Given the description of an element on the screen output the (x, y) to click on. 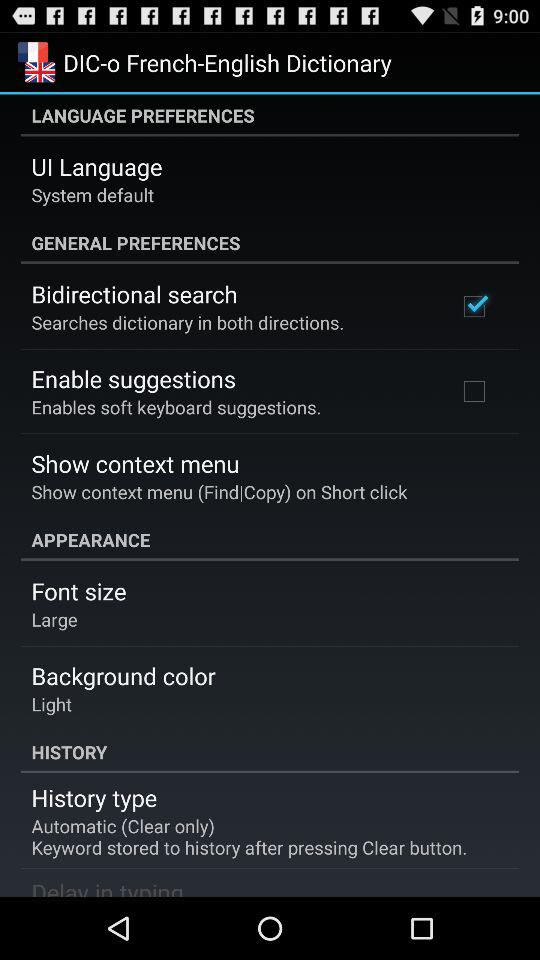
open the app below bidirectional search icon (187, 322)
